Given the description of an element on the screen output the (x, y) to click on. 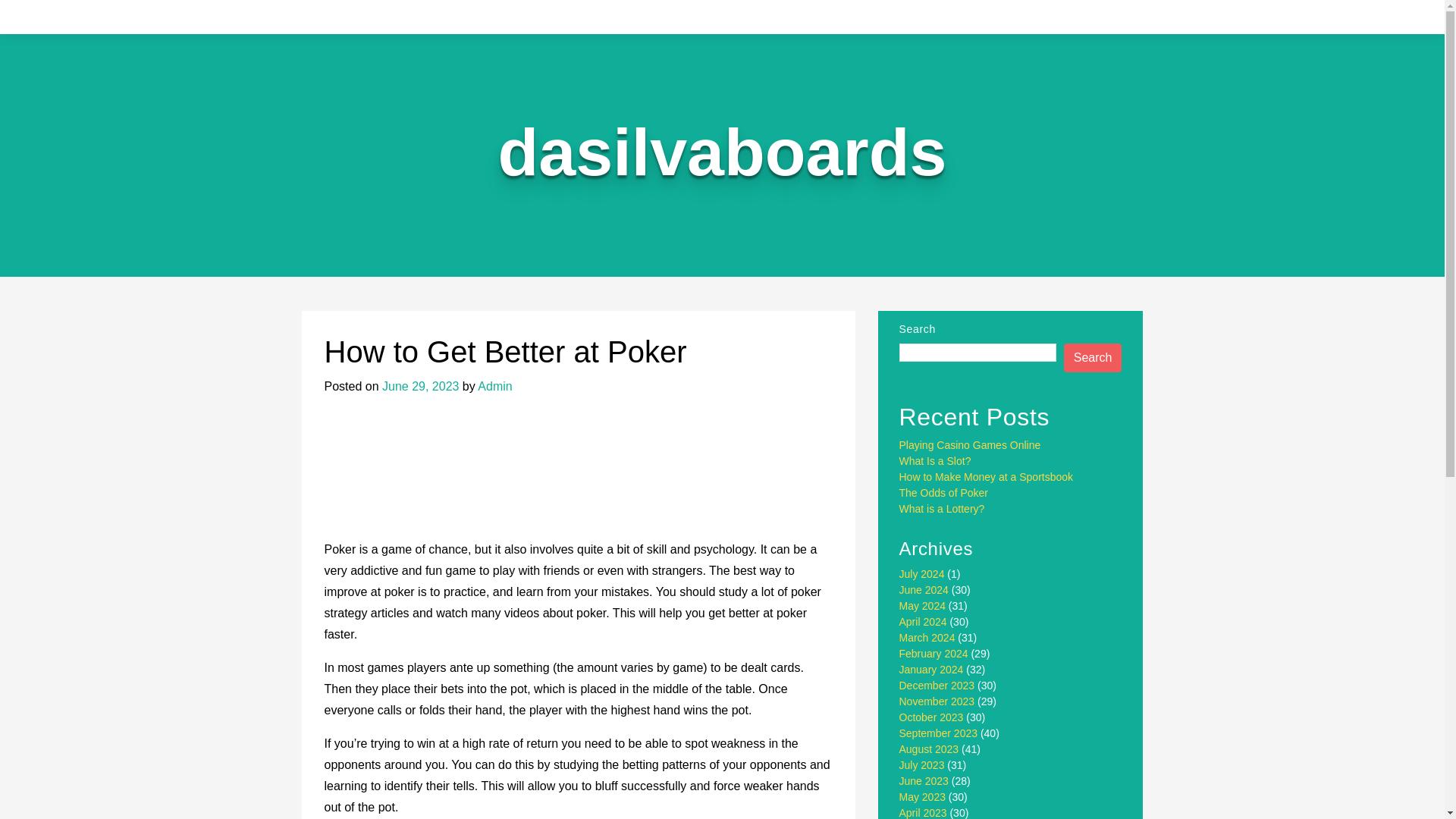
March 2024 (927, 637)
May 2024 (921, 605)
July 2023 (921, 765)
Search (1093, 357)
November 2023 (937, 701)
December 2023 (937, 685)
September 2023 (938, 733)
July 2024 (921, 573)
What is a Lottery? (942, 508)
June 2023 (924, 780)
